Given the description of an element on the screen output the (x, y) to click on. 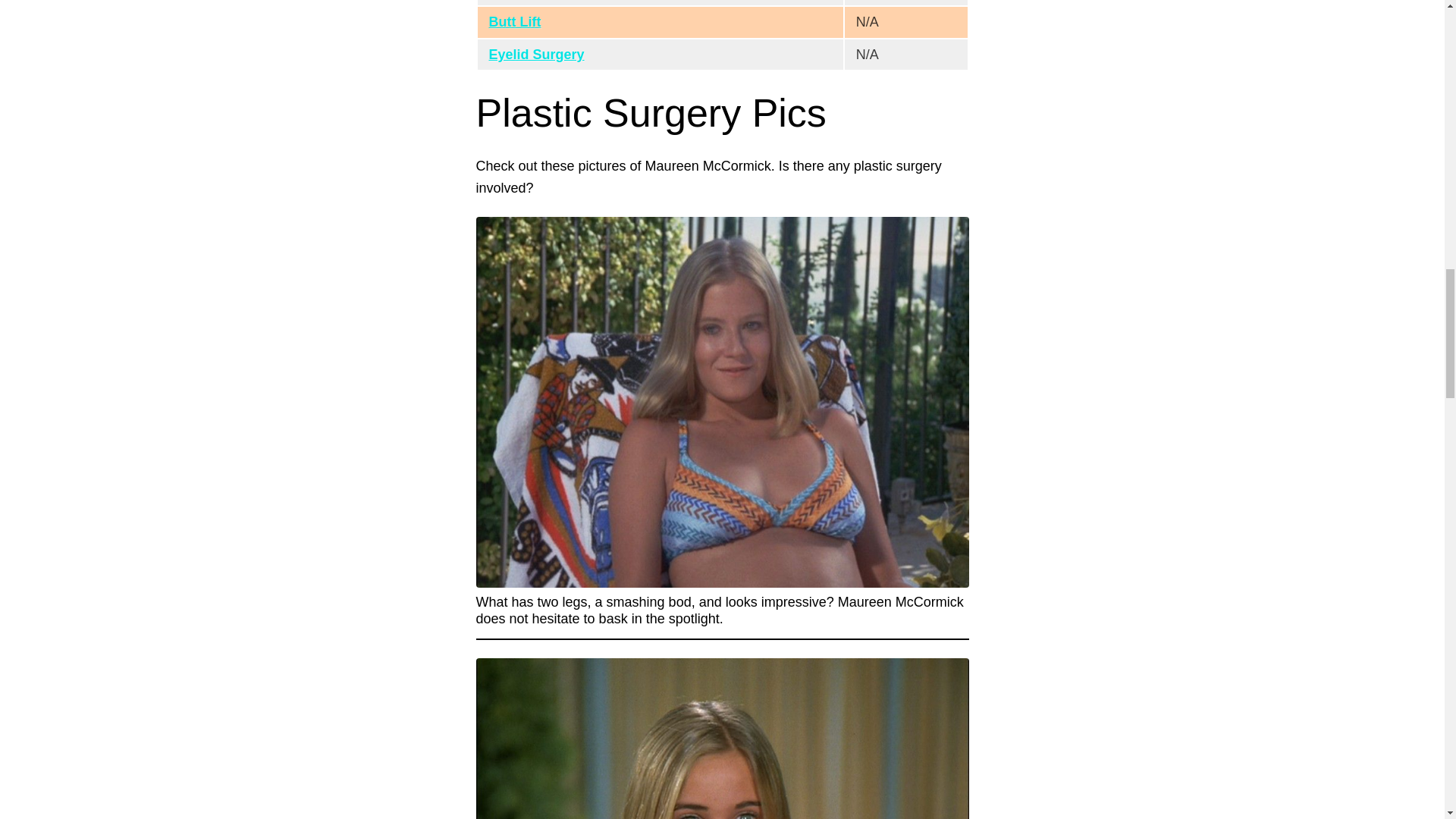
Eyelid Surgery (535, 54)
Butt Lift (513, 21)
